Given the description of an element on the screen output the (x, y) to click on. 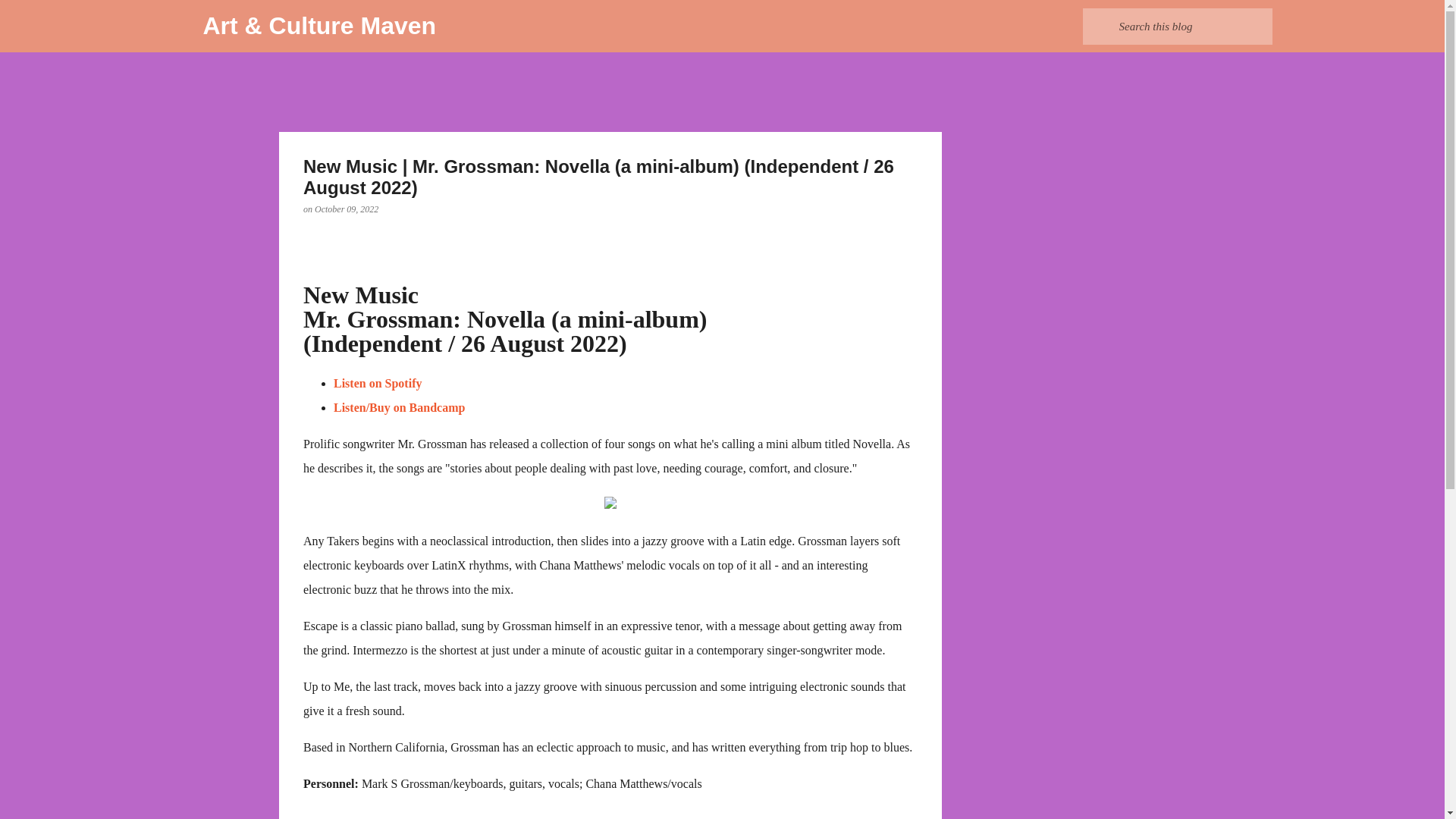
October 09, 2022 (346, 208)
YouTube video player (549, 813)
permanent link (346, 208)
Listen on Spotify (377, 382)
